Given the description of an element on the screen output the (x, y) to click on. 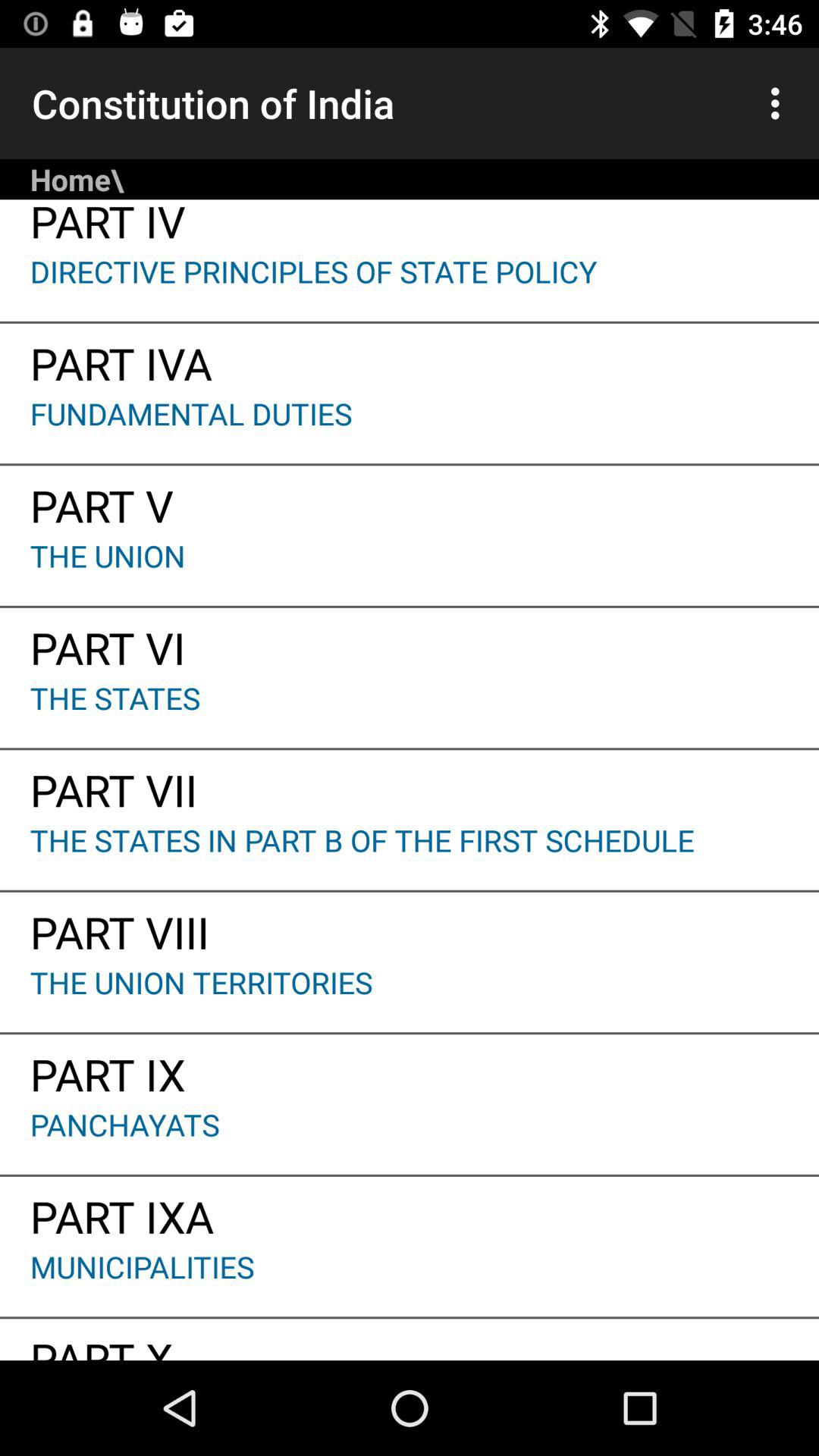
jump until part vi (409, 642)
